Given the description of an element on the screen output the (x, y) to click on. 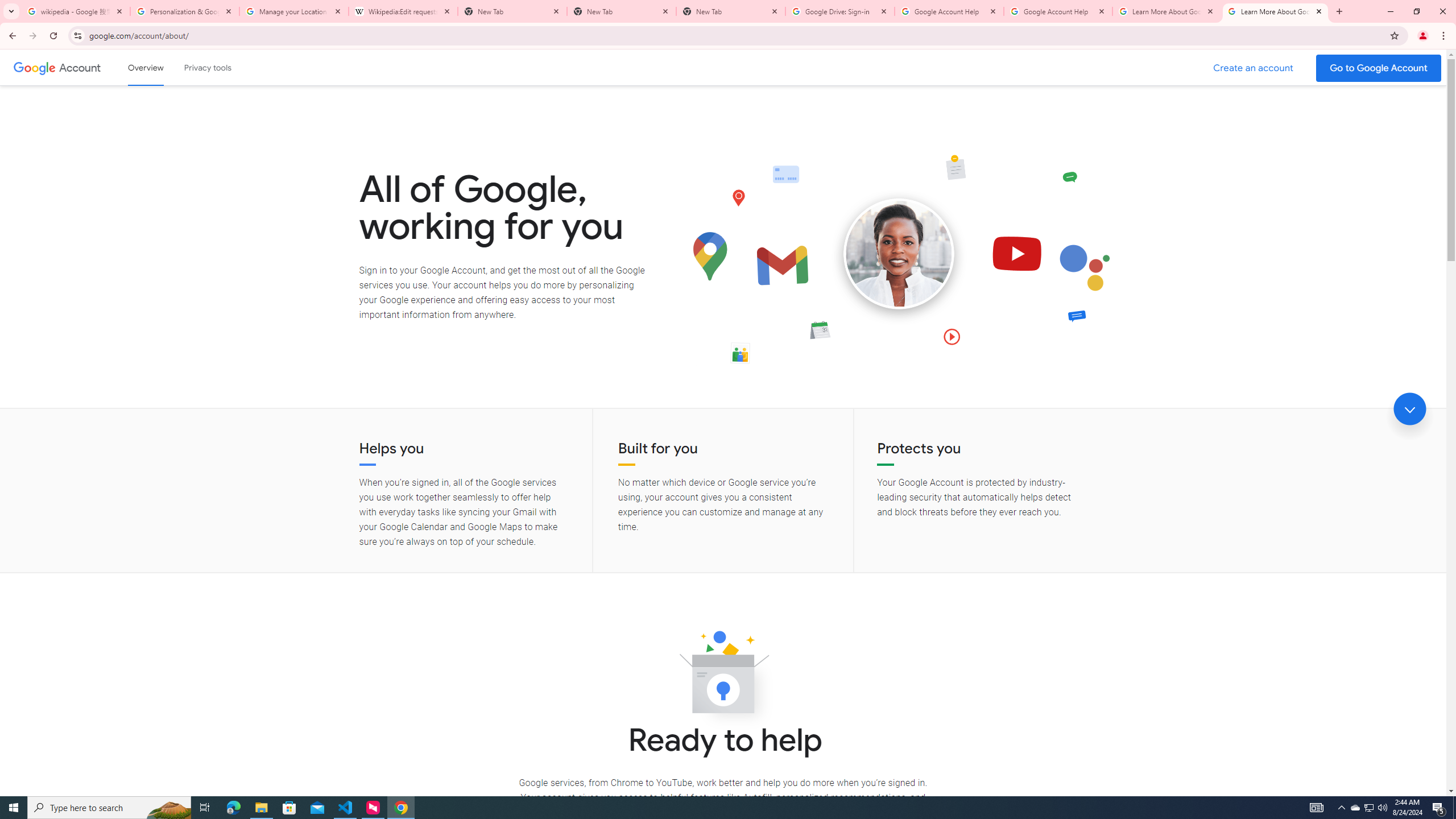
Jump link (1409, 408)
Manage your Location History - Google Search Help (293, 11)
